Given the description of an element on the screen output the (x, y) to click on. 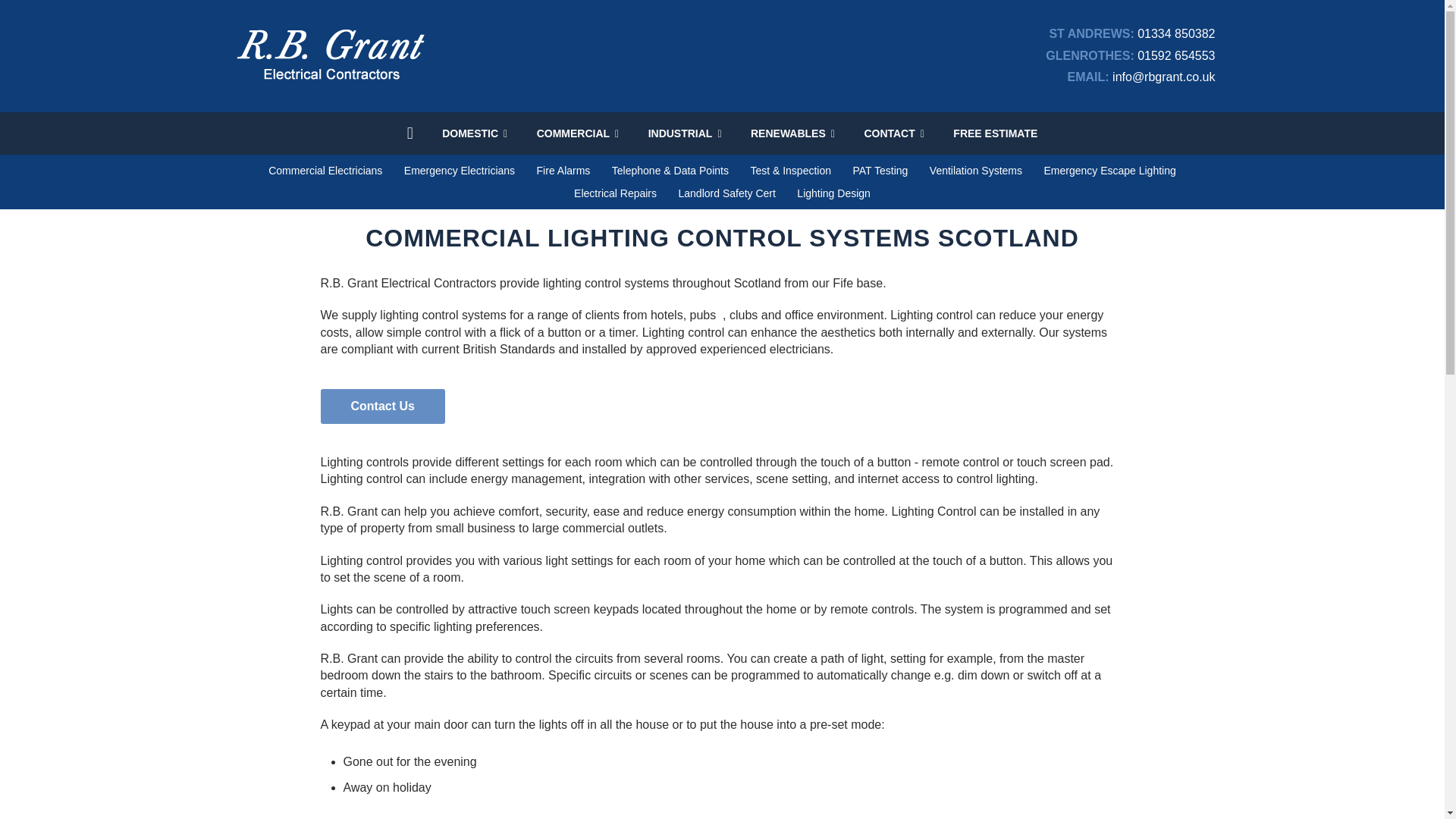
RENEWABLES (792, 132)
Emergency Electricians (459, 170)
RB Grant (329, 82)
INDUSTRIAL (684, 132)
DOMESTIC (474, 132)
FREE ESTIMATE (994, 133)
COMMERCIAL (577, 132)
CONTACT (893, 132)
Commercial Electricians (324, 170)
